Given the description of an element on the screen output the (x, y) to click on. 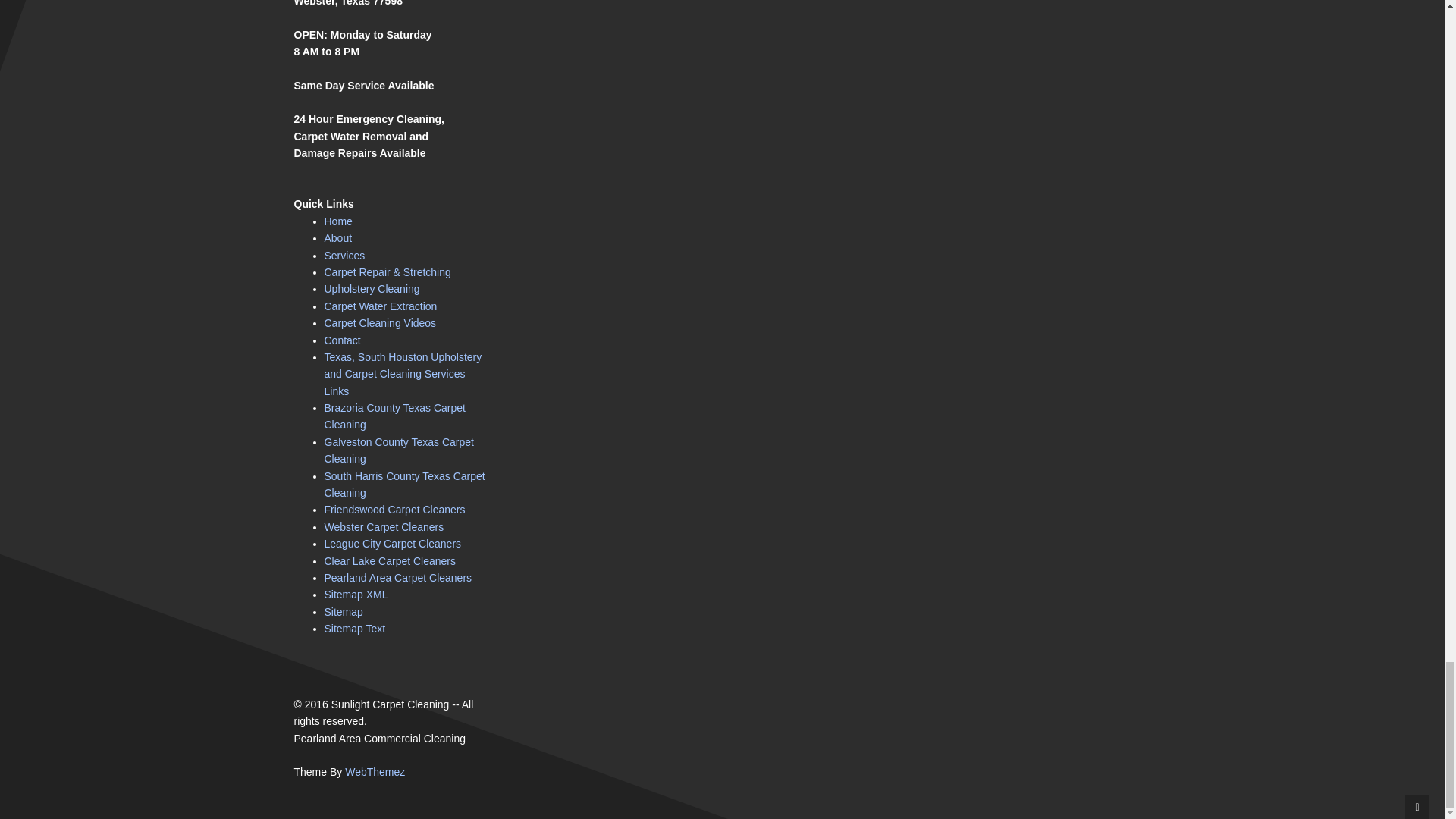
Upholstery Cleaning (372, 288)
Carpet Cleaning Videos (380, 322)
Carpet Water Extraction (381, 306)
Contact (342, 340)
South Harris County Texas Carpet Cleaning (404, 484)
Services (344, 255)
Clear Lake Carpet Cleaners (390, 561)
Brazoria County Texas Carpet Cleaning (394, 416)
Galveston County Texas Carpet Cleaning (399, 450)
League City Carpet Cleaners (392, 543)
Friendswood Carpet Cleaners (394, 509)
Home (338, 221)
Webster Carpet Cleaners (384, 526)
About (338, 237)
